Given the description of an element on the screen output the (x, y) to click on. 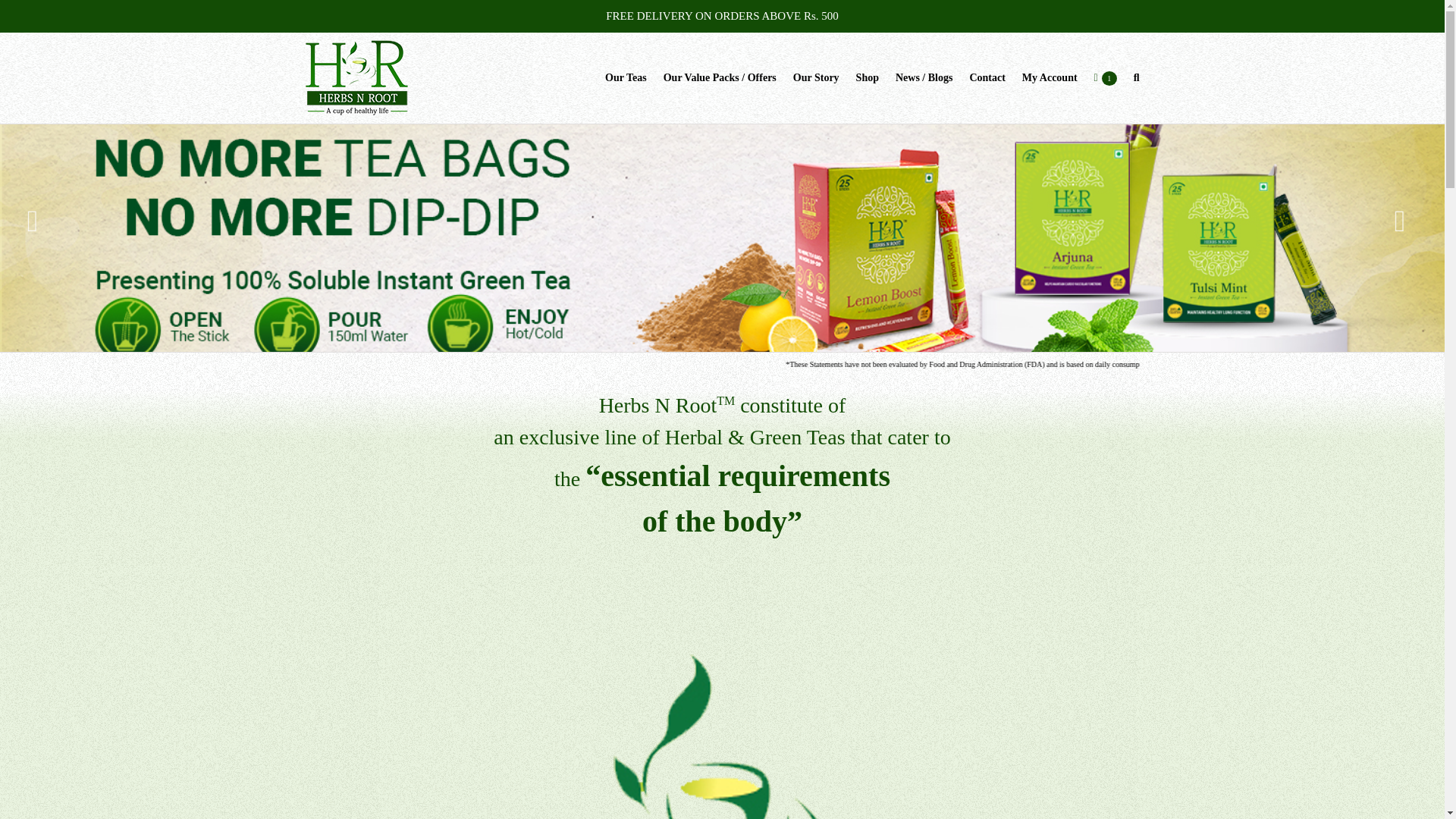
tea (721, 724)
Log In (1117, 234)
